Given the description of an element on the screen output the (x, y) to click on. 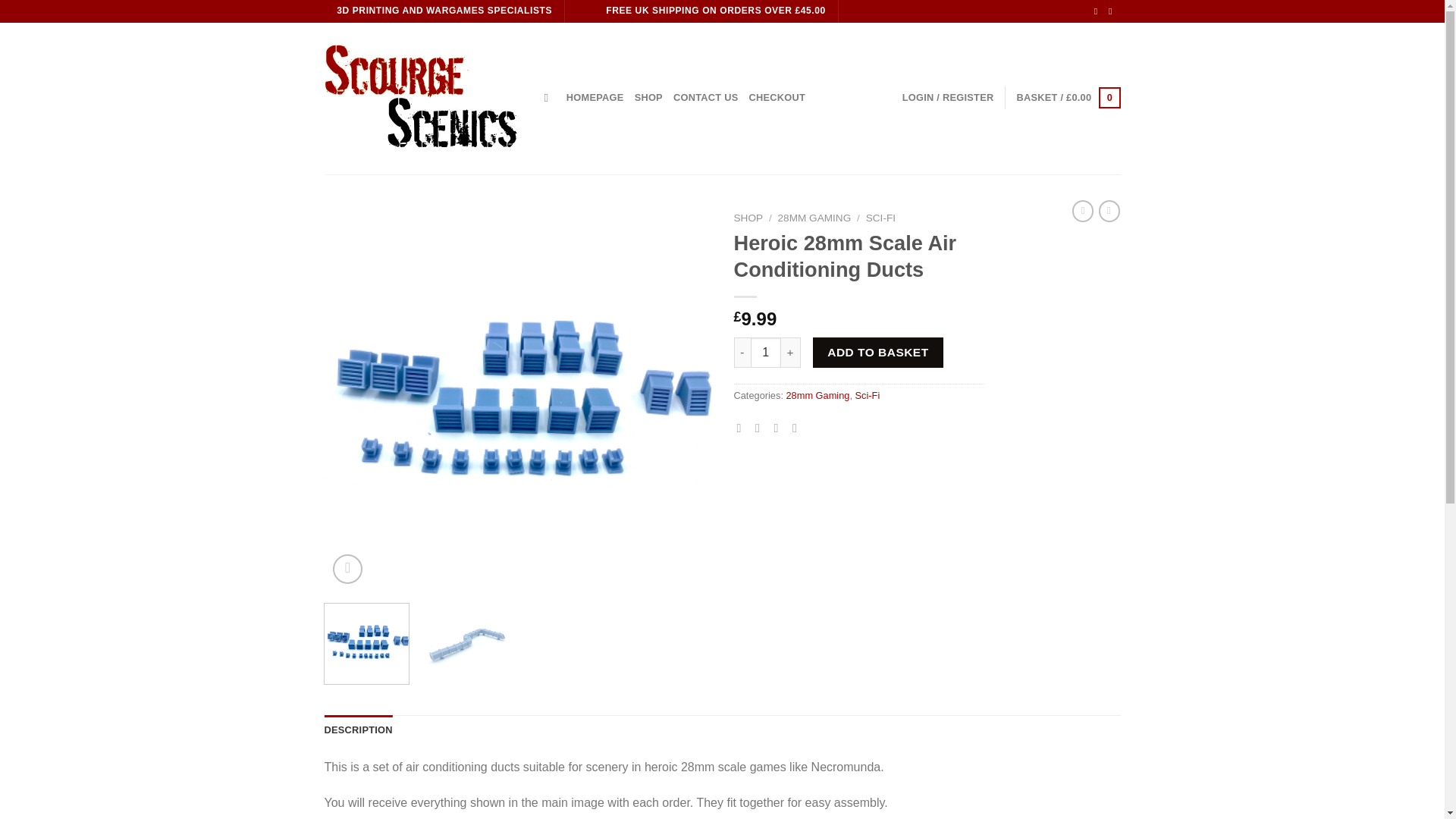
CHECKOUT (776, 97)
SCI-FI (880, 217)
1 (765, 352)
SHOP (747, 217)
Zoom (347, 568)
SHOP (648, 97)
28mm Gaming (817, 395)
CONTACT US (705, 97)
HOMEPAGE (595, 97)
ADD TO BASKET (877, 352)
Basket (1067, 97)
28MM GAMING (814, 217)
Sci-Fi (868, 395)
Login (948, 97)
